Given the description of an element on the screen output the (x, y) to click on. 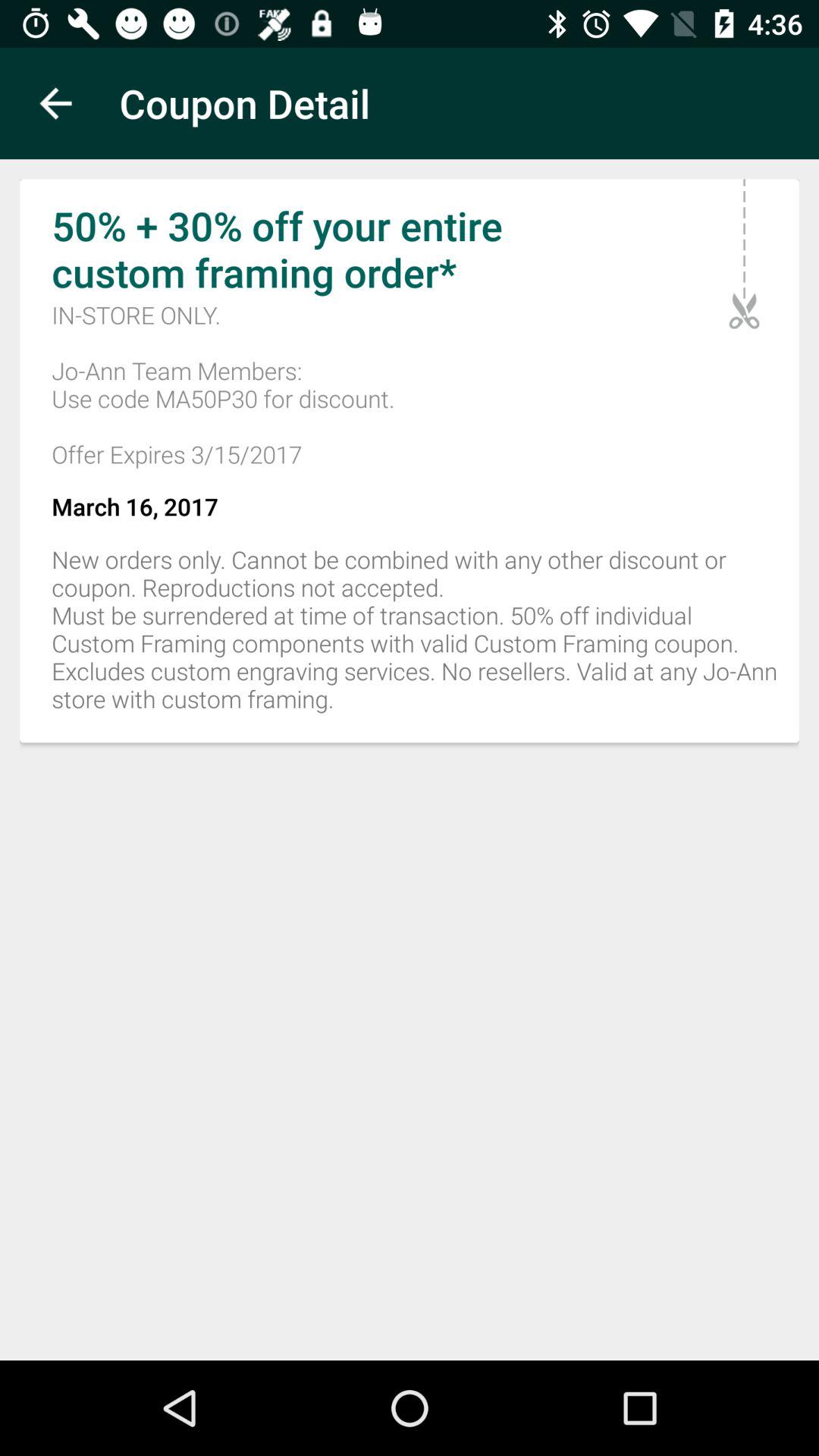
flip to new orders only item (409, 637)
